Given the description of an element on the screen output the (x, y) to click on. 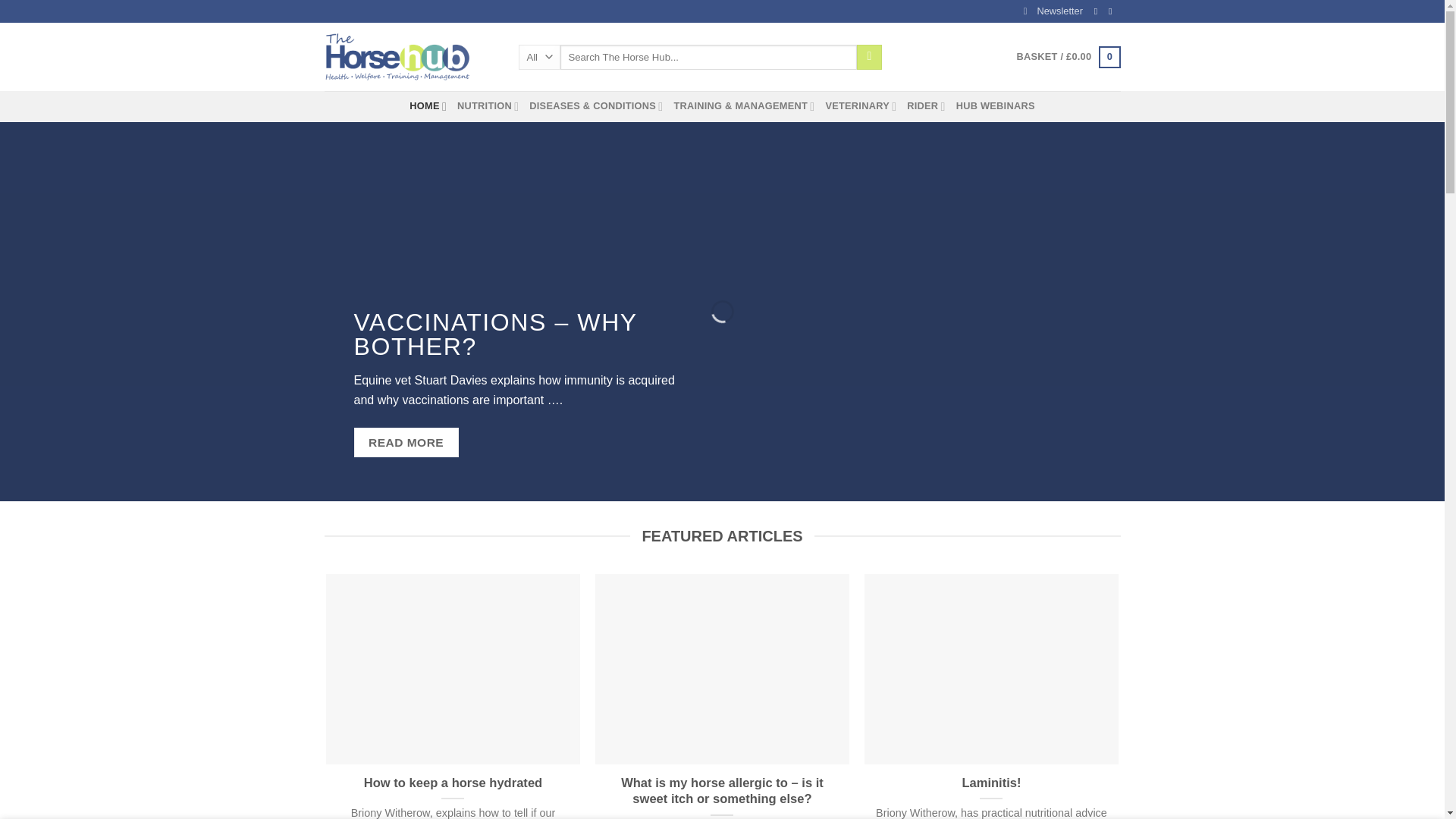
Newsletter (1053, 11)
Sign up for Newsletter (1053, 11)
HUB WEBINARS (995, 105)
NUTRITION (487, 105)
Search (869, 57)
VETERINARY (860, 105)
RIDER (925, 105)
Basket (1067, 57)
HOME (427, 105)
READ MORE (405, 442)
The Horse Hub - horse training and health information (410, 56)
